Given the description of an element on the screen output the (x, y) to click on. 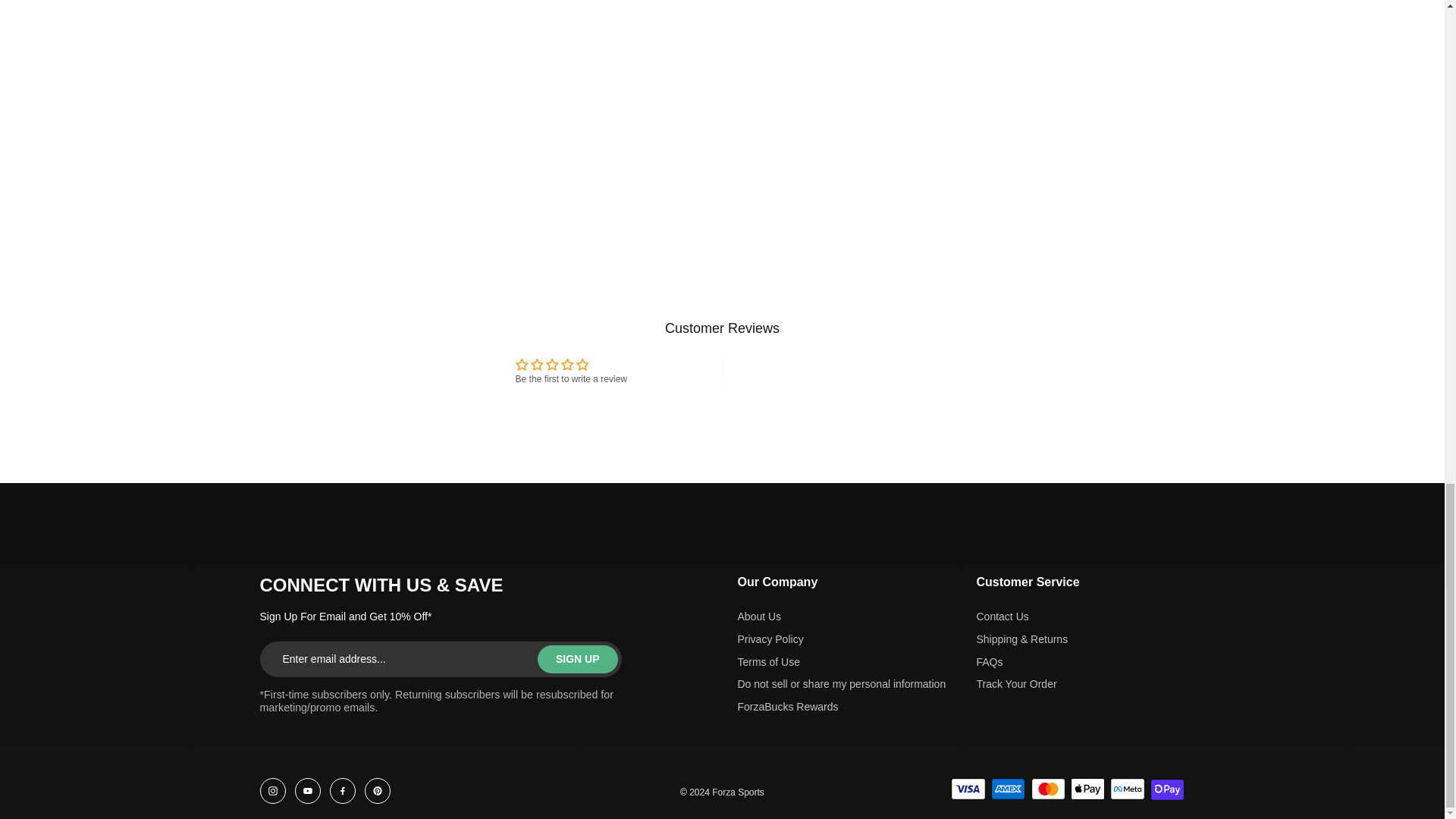
Privacy Policy (840, 639)
Terms of Use (840, 662)
ForzaBucks Rewards (840, 707)
Do not sell or share my personal information (840, 684)
Contact Us (1022, 616)
About Us (840, 616)
